Given the description of an element on the screen output the (x, y) to click on. 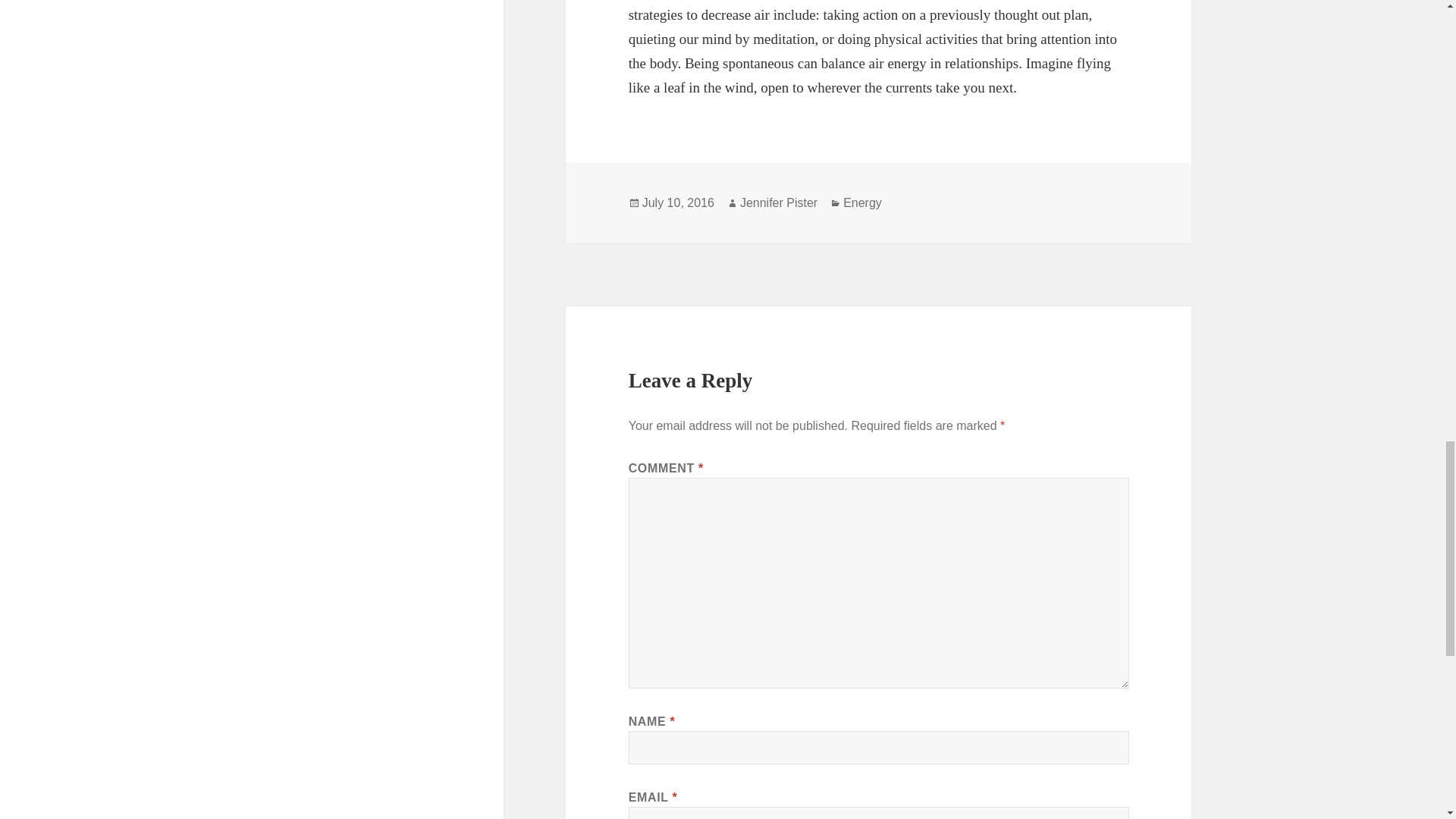
Jennifer Pister (777, 202)
Energy (862, 202)
July 10, 2016 (678, 202)
